Given the description of an element on the screen output the (x, y) to click on. 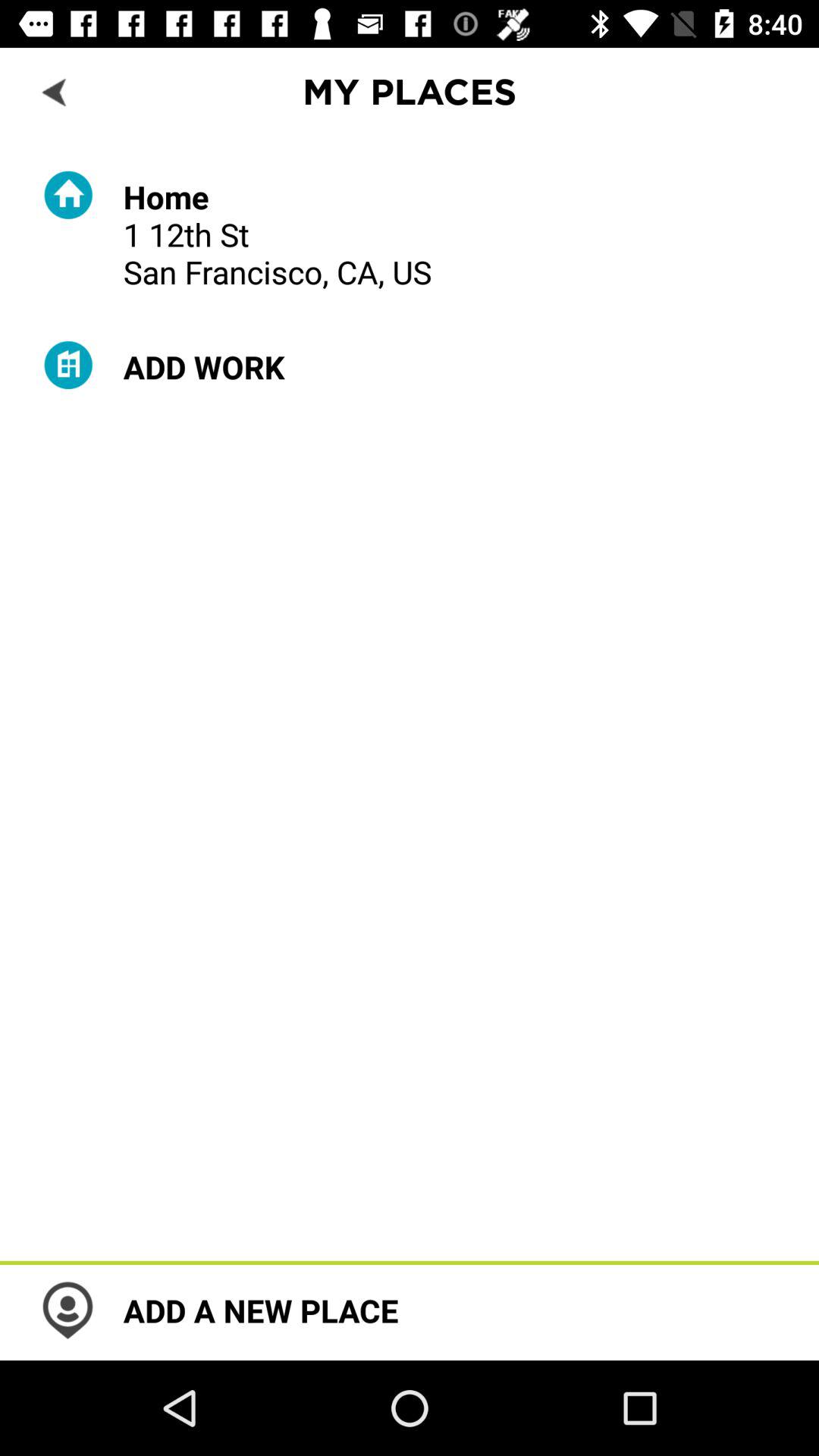
back to previous scene (55, 91)
